Given the description of an element on the screen output the (x, y) to click on. 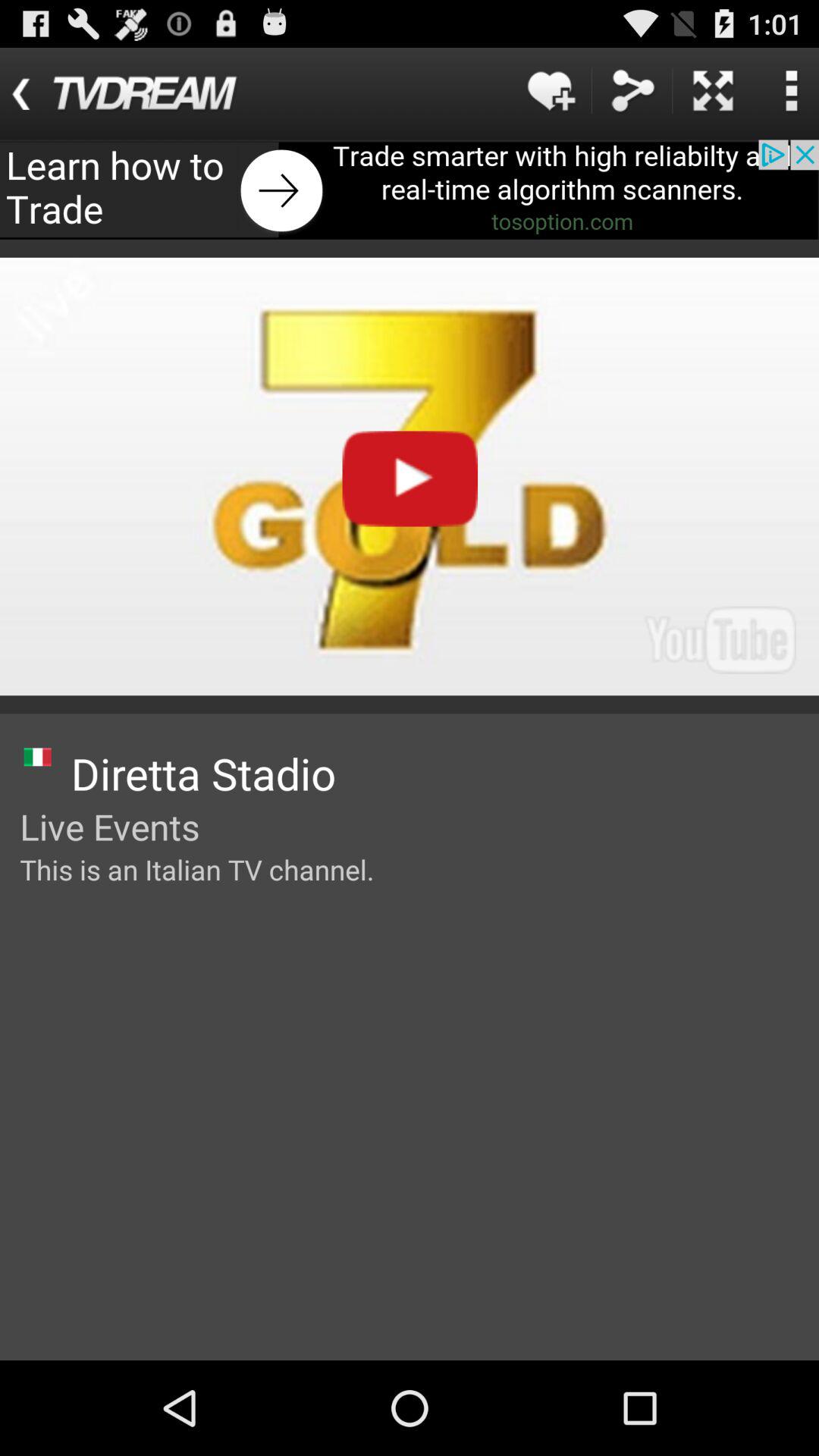
expand (712, 90)
